Given the description of an element on the screen output the (x, y) to click on. 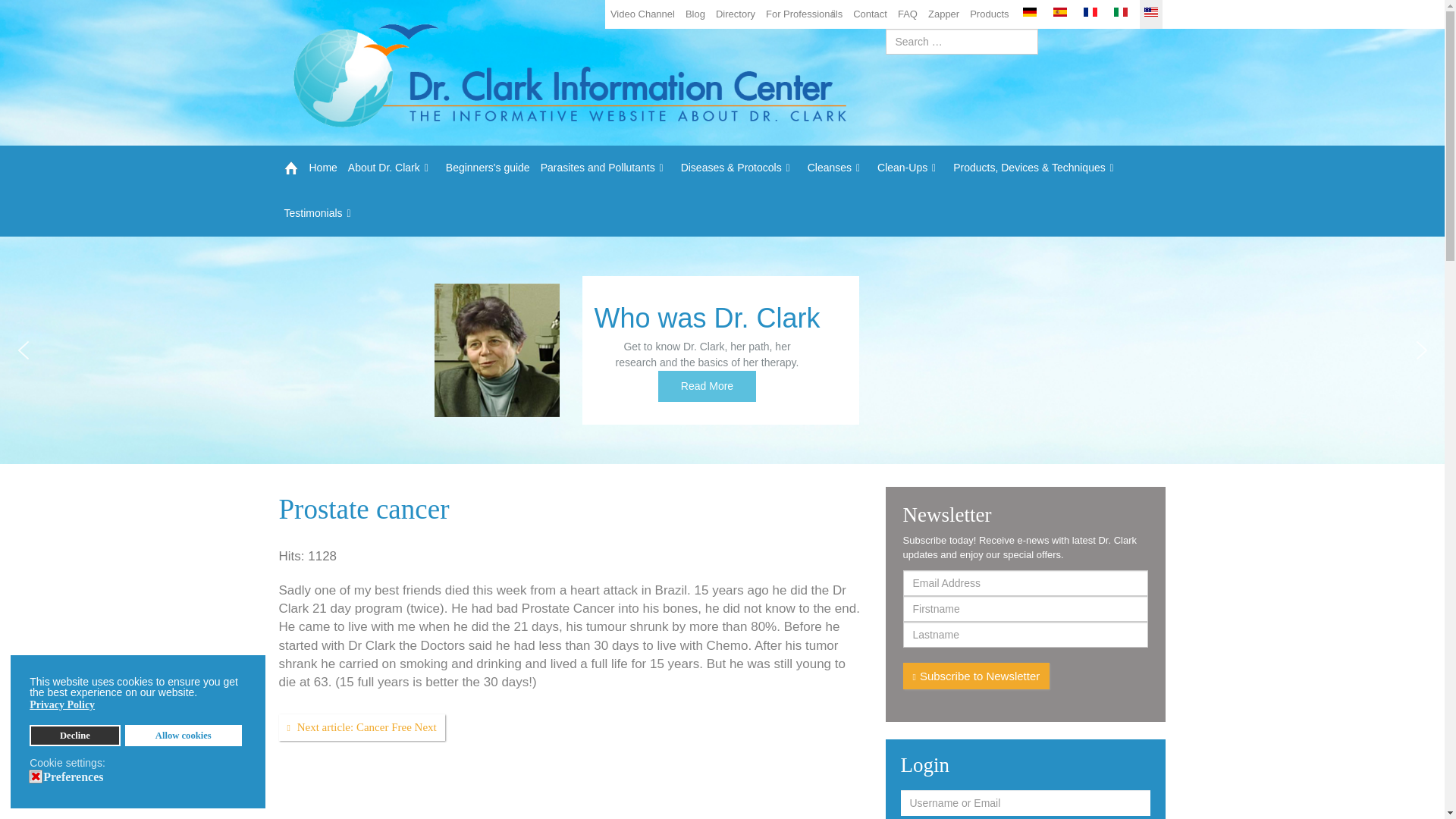
Products (988, 14)
FAQ (907, 14)
About Dr. Clark (391, 167)
Privacy Policy (63, 704)
Parasites and Pollutants (605, 167)
Blog (694, 14)
Zapper (943, 14)
Directory (735, 14)
Allow cookies (183, 735)
Preferences (75, 775)
Decline (74, 735)
For Professionals (803, 14)
Beginners's guide (488, 167)
Video Channel (642, 14)
